Given the description of an element on the screen output the (x, y) to click on. 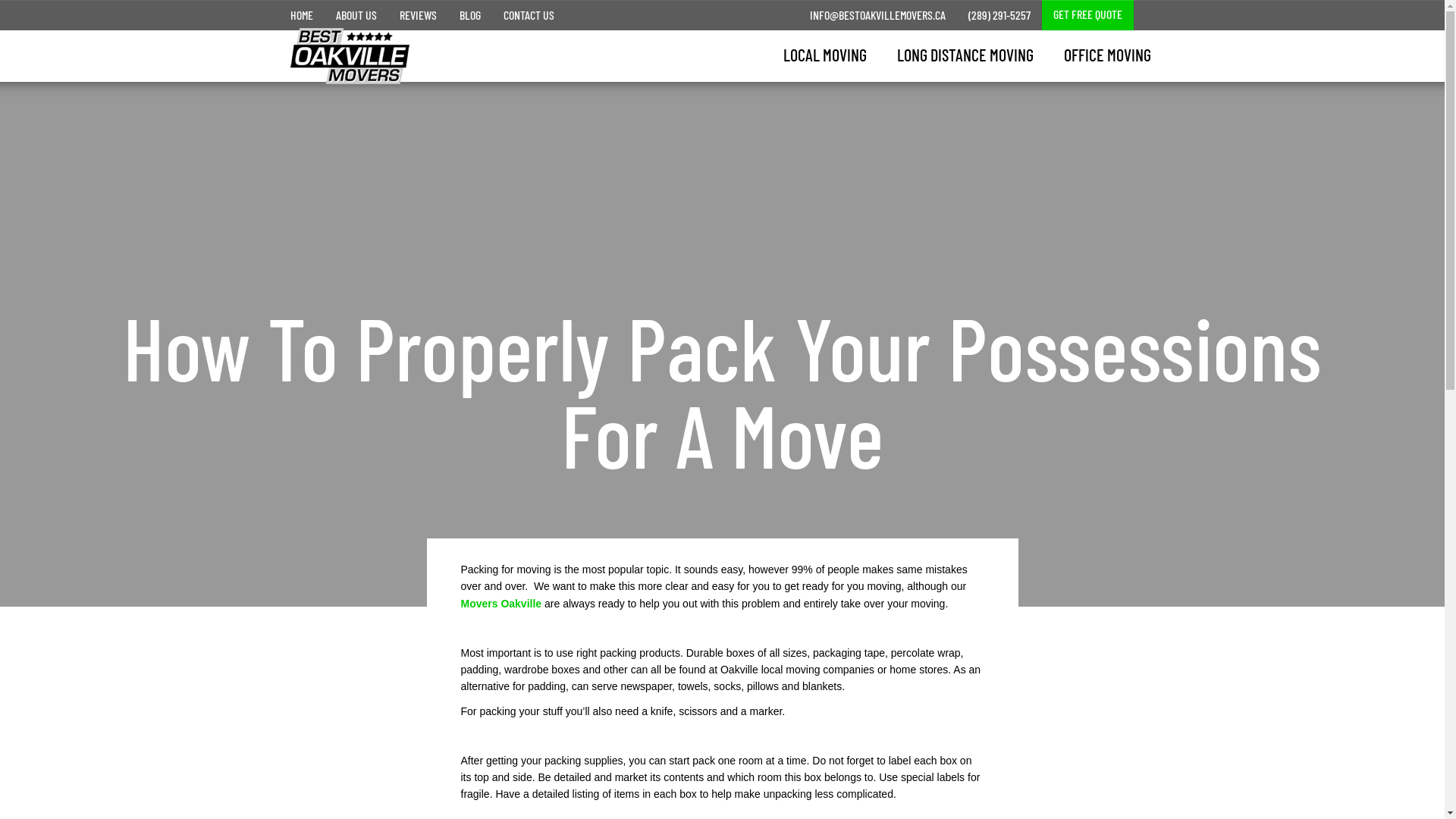
INFO@BESTOAKVILLEMOVERS.CA Element type: text (876, 15)
REVIEWS Element type: text (418, 15)
LONG DISTANCE MOVING Element type: text (964, 54)
(289) 291-5257 Element type: text (999, 15)
ABOUT US Element type: text (356, 15)
BLOG Element type: text (469, 15)
CONTACT US Element type: text (527, 15)
Movers Oakville Element type: text (503, 603)
Best Oakville Movers Element type: hover (337, 46)
LOCAL MOVING Element type: text (824, 54)
GET FREE QUOTE Element type: text (1087, 15)
OFFICE MOVING Element type: text (1106, 54)
HOME Element type: text (301, 15)
